Given the description of an element on the screen output the (x, y) to click on. 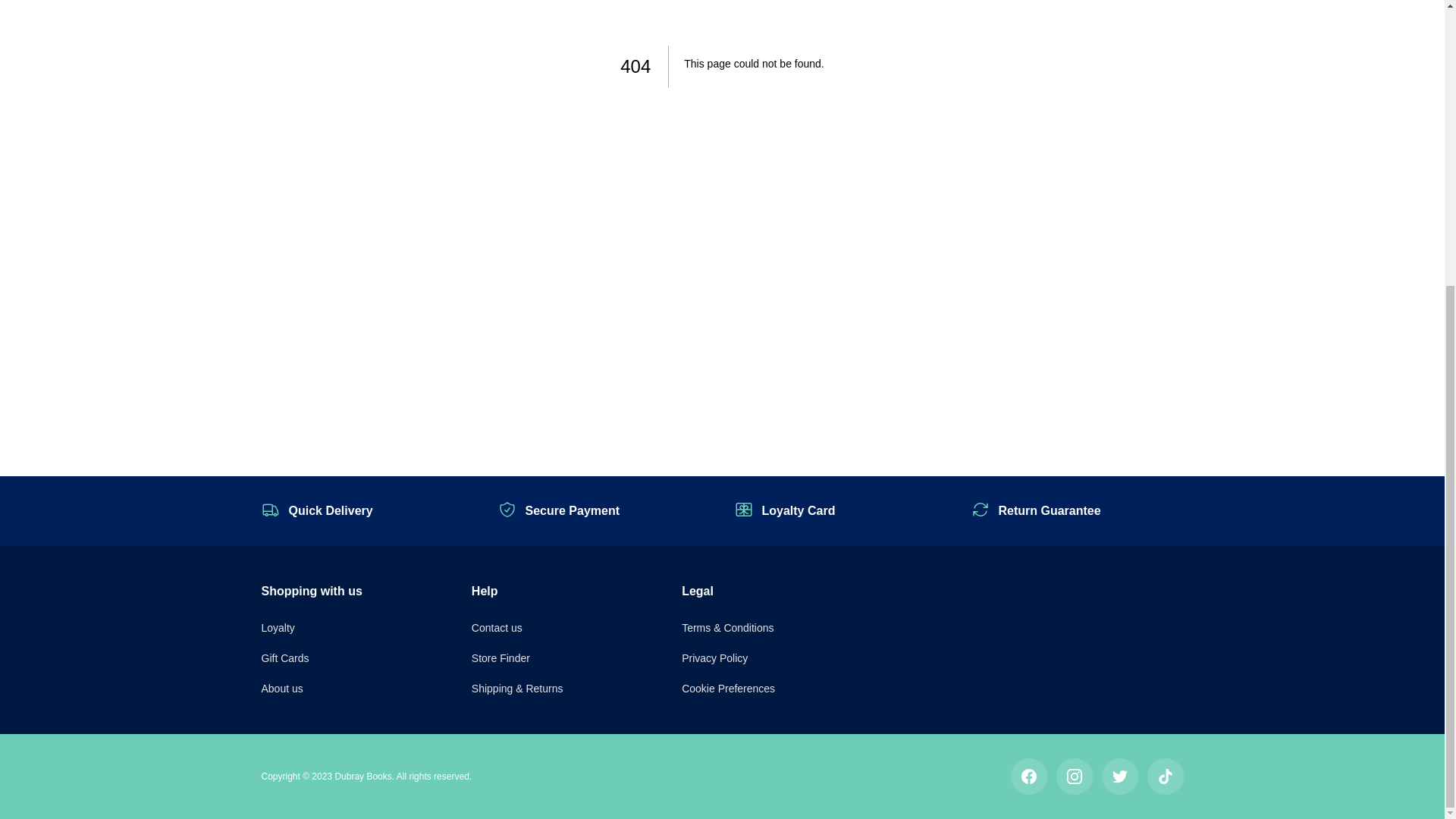
TikTok (1164, 776)
Contact us (496, 627)
Twitter (1118, 776)
Facebook (1028, 776)
Instagram (1073, 776)
Store Finder (500, 657)
Cookie Preferences (727, 688)
Privacy Policy (714, 657)
Loyalty (277, 627)
Gift Cards (284, 657)
About us (281, 688)
